Given the description of an element on the screen output the (x, y) to click on. 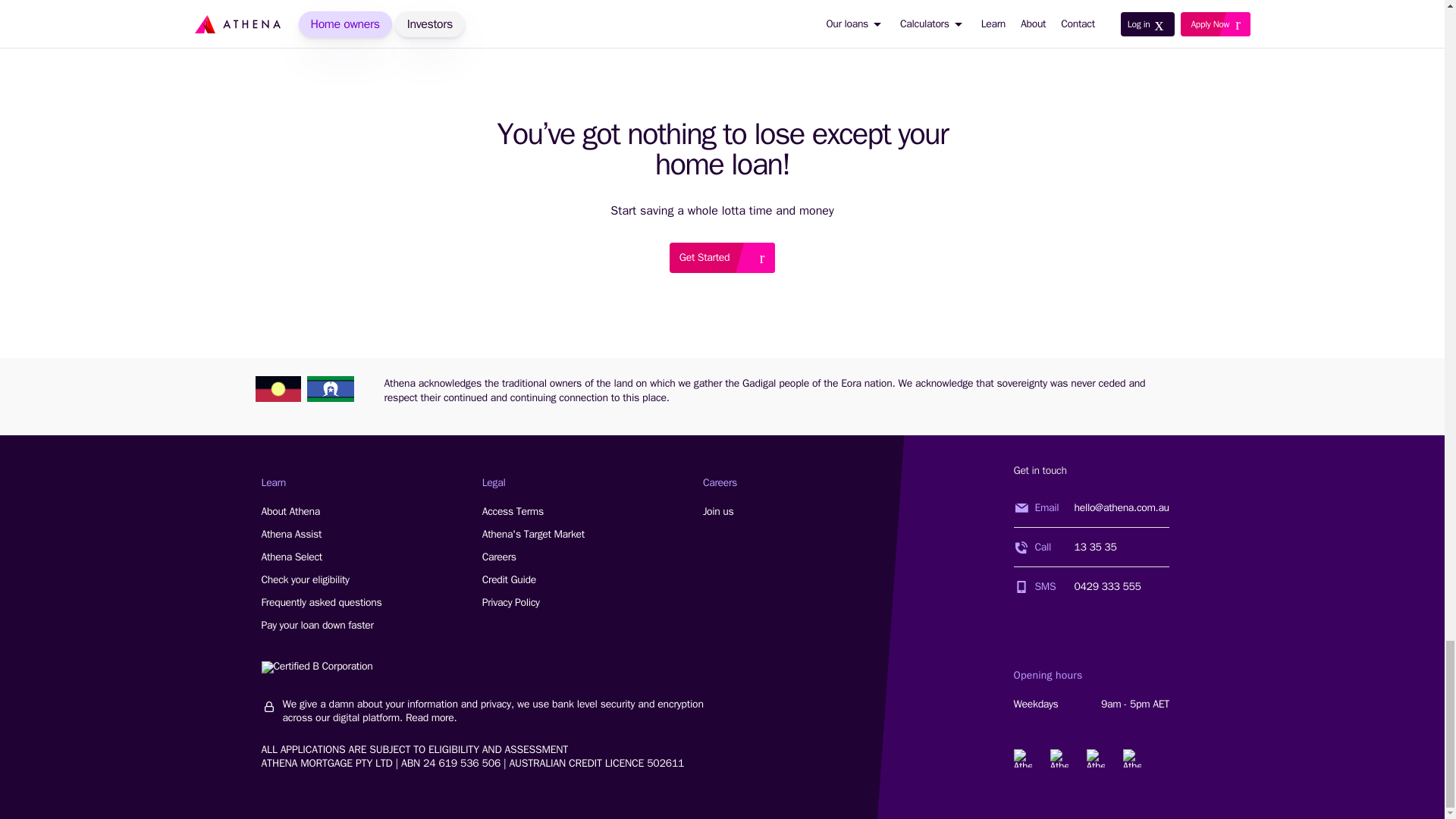
Athena on instagram (721, 257)
About Athena (1058, 758)
Athena Assist (289, 511)
Frequently asked questions (290, 533)
Check your eligibility (320, 602)
Certified B Corporation (304, 579)
Athena on twitter (316, 666)
Athena on facebook (1131, 758)
Athena Select (1021, 758)
Athena on linkedin (290, 556)
